Given the description of an element on the screen output the (x, y) to click on. 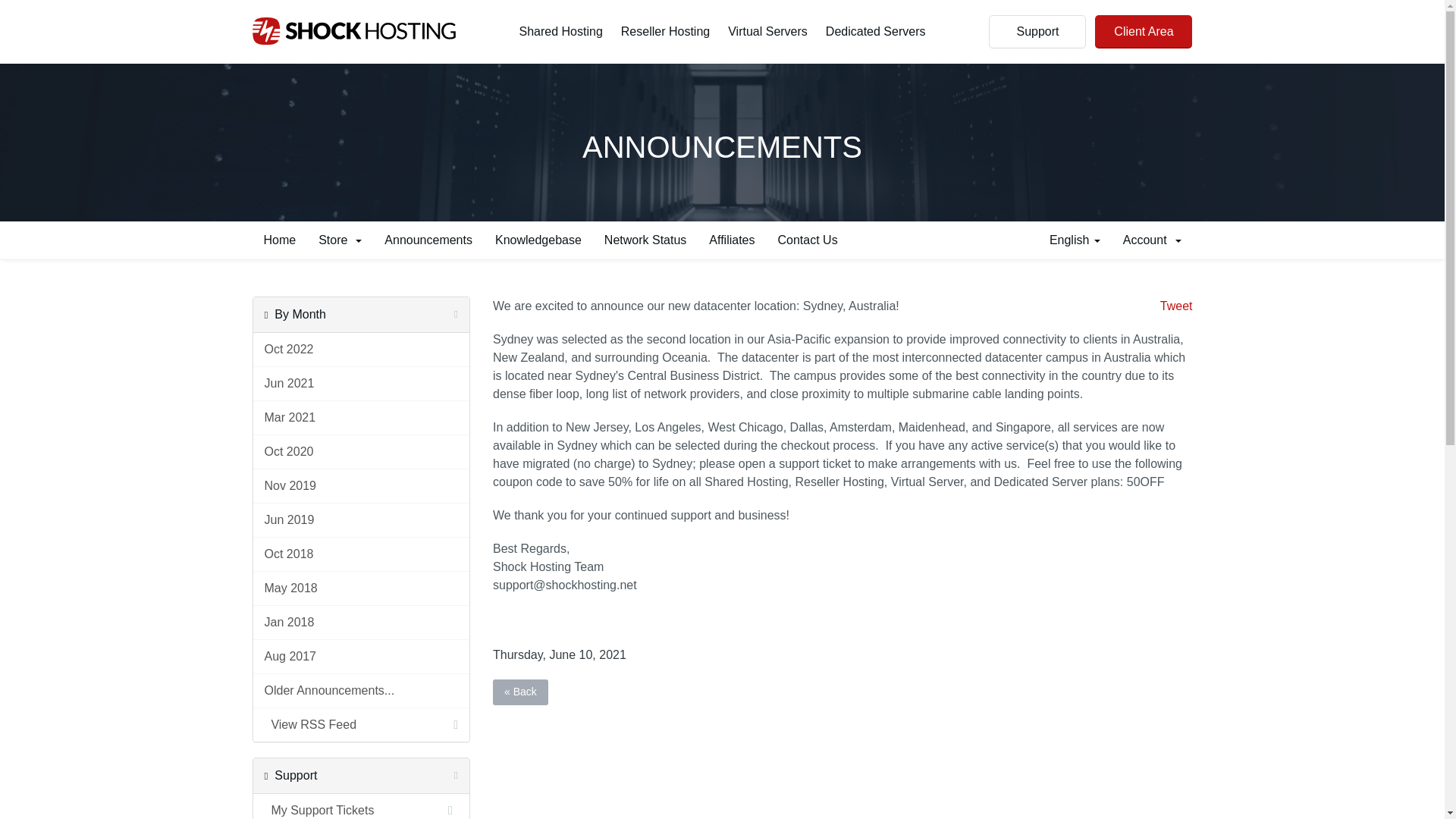
Client Area (1143, 31)
Affiliates (731, 240)
English (1075, 240)
Dedicated Servers (875, 31)
Network Status (644, 240)
Store   (339, 240)
Reseller Hosting (665, 31)
Knowledgebase (537, 240)
LiveChat chat widget (1405, 787)
Home (279, 240)
Support (1037, 31)
Virtual Servers (768, 31)
Shock Hosting (352, 30)
Shared Hosting (560, 31)
Announcements (427, 240)
